Given the description of an element on the screen output the (x, y) to click on. 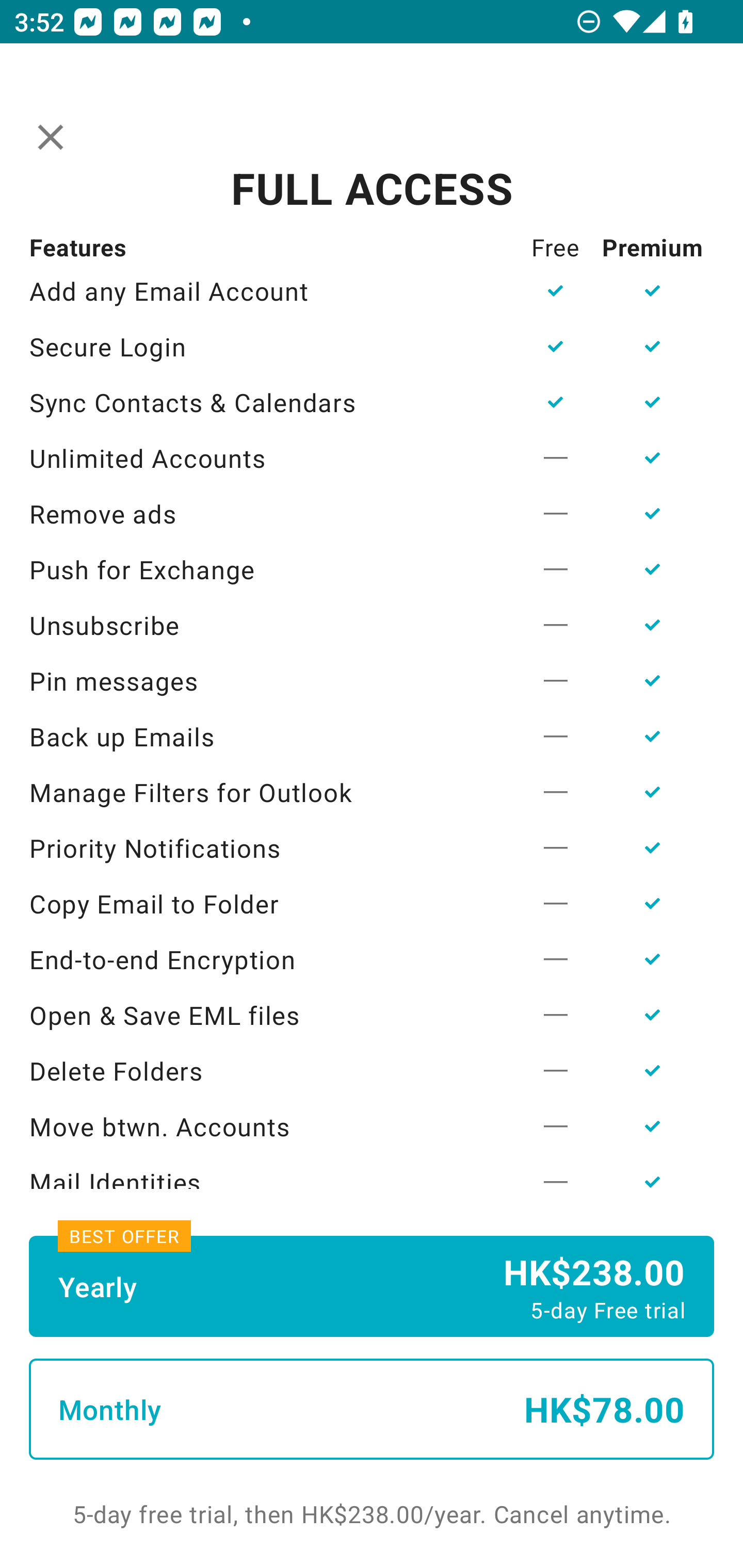
Yearly HK$238.00 5-day Free trial (371, 1286)
Monthly HK$78.00 (371, 1408)
